Given the description of an element on the screen output the (x, y) to click on. 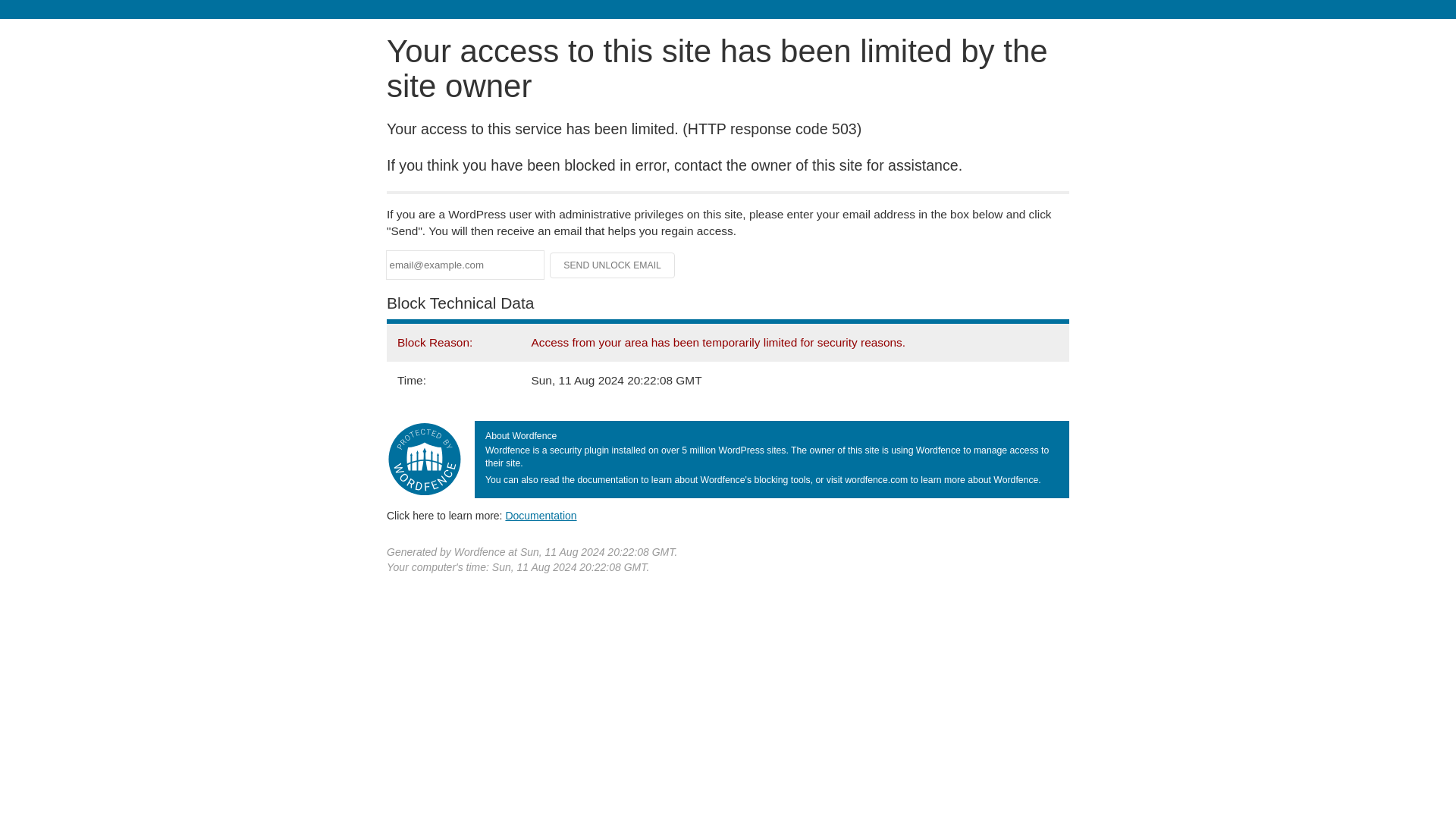
Send Unlock Email (612, 265)
Send Unlock Email (612, 265)
Documentation (540, 515)
